Given the description of an element on the screen output the (x, y) to click on. 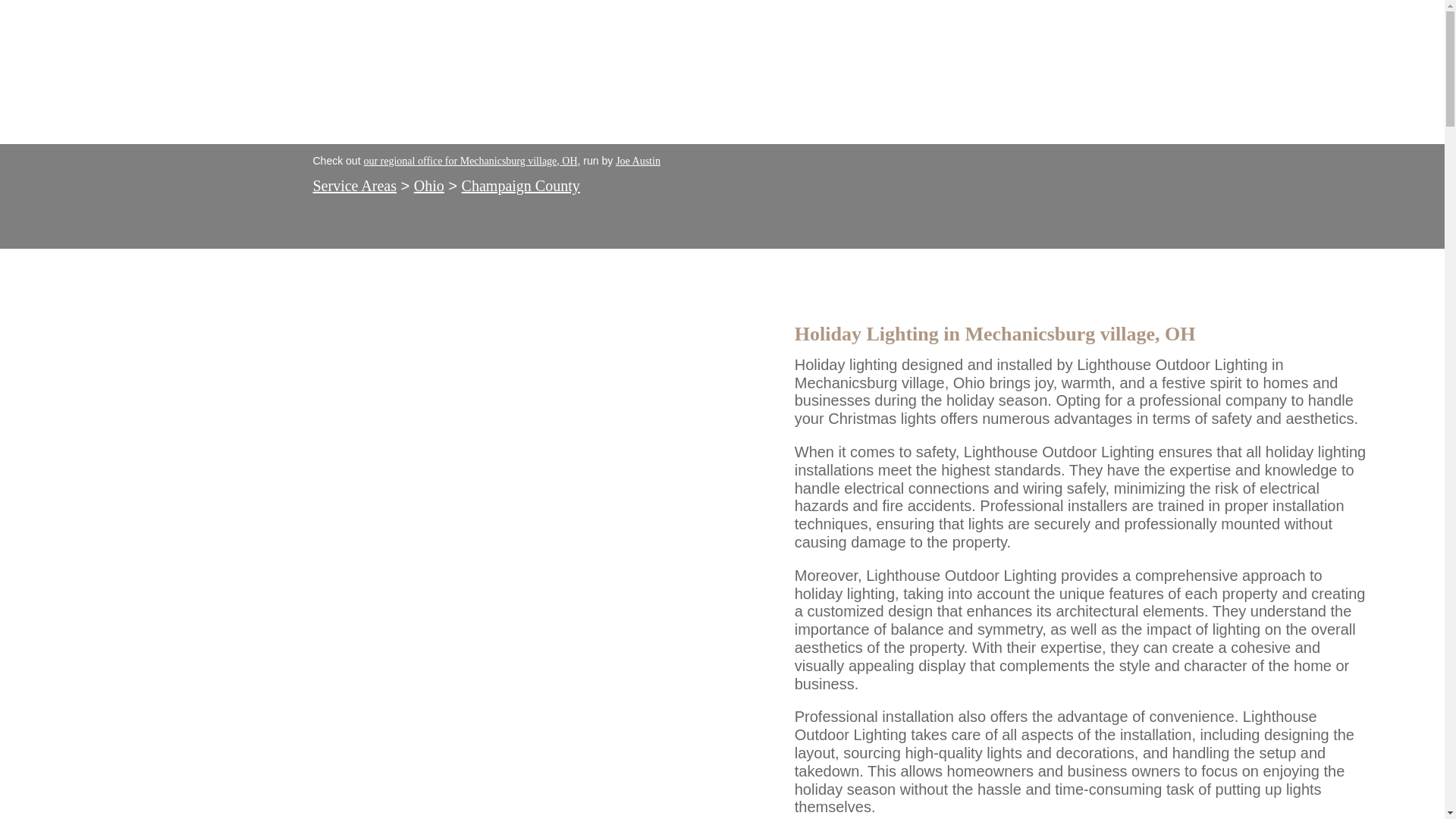
MENU (1327, 71)
Landscape Lighting in Mechanicsburg village, OH (113, 57)
Champaign County (520, 185)
Ohio (428, 185)
our regional office for Mechanicsburg village, OH (469, 161)
Joe Austin (638, 161)
Service Areas (354, 185)
